Given the description of an element on the screen output the (x, y) to click on. 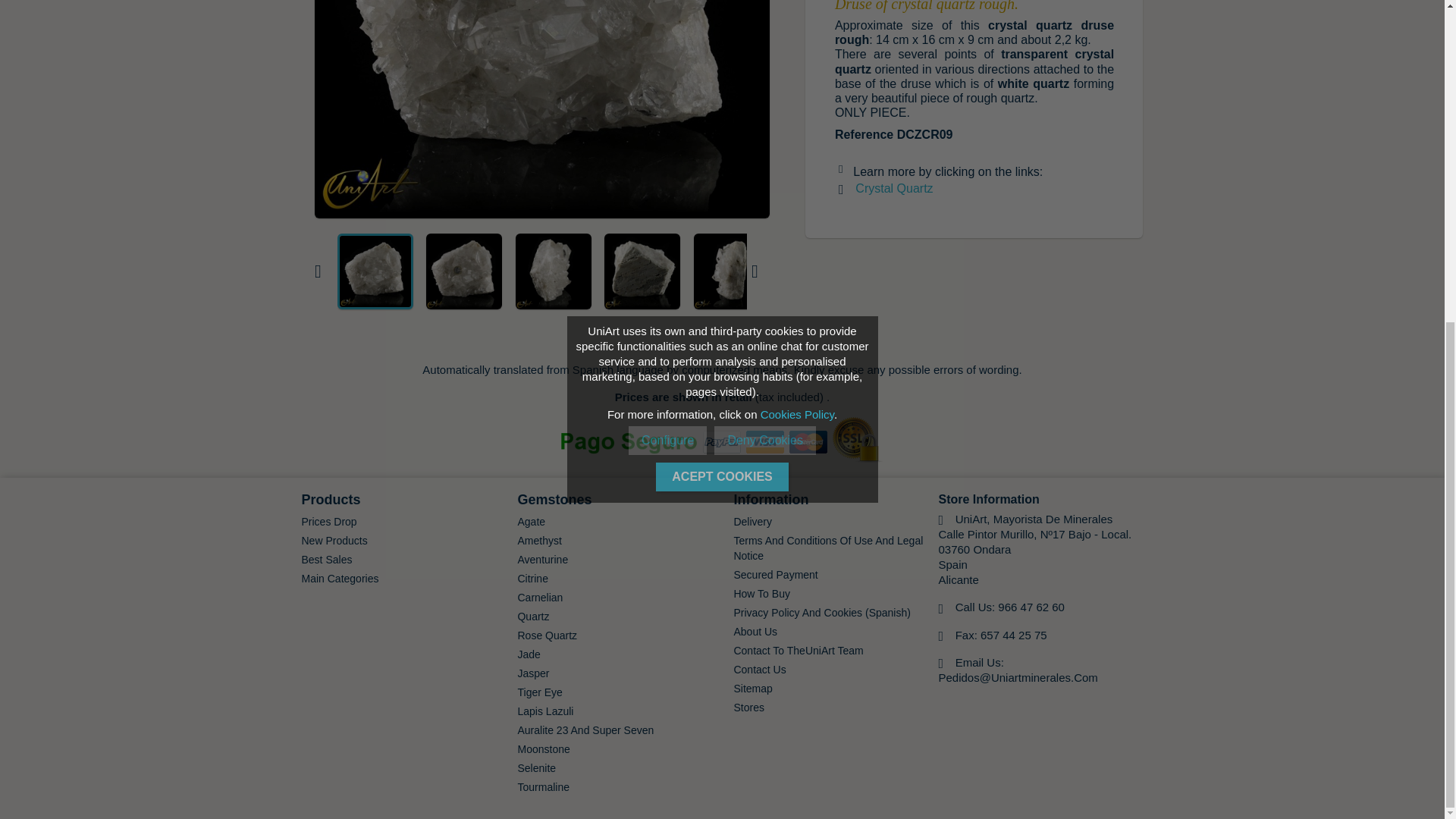
Crystal Quartz - Rough (553, 271)
Crystal Quartz - Rough (464, 271)
Crystal Quartz  (894, 187)
Crystal Quartz - Rough (542, 109)
Crystal Quartz - Rough (641, 271)
Crystal Quartz - Rough (375, 271)
Crystal Quartz - Rough (732, 271)
